Given the description of an element on the screen output the (x, y) to click on. 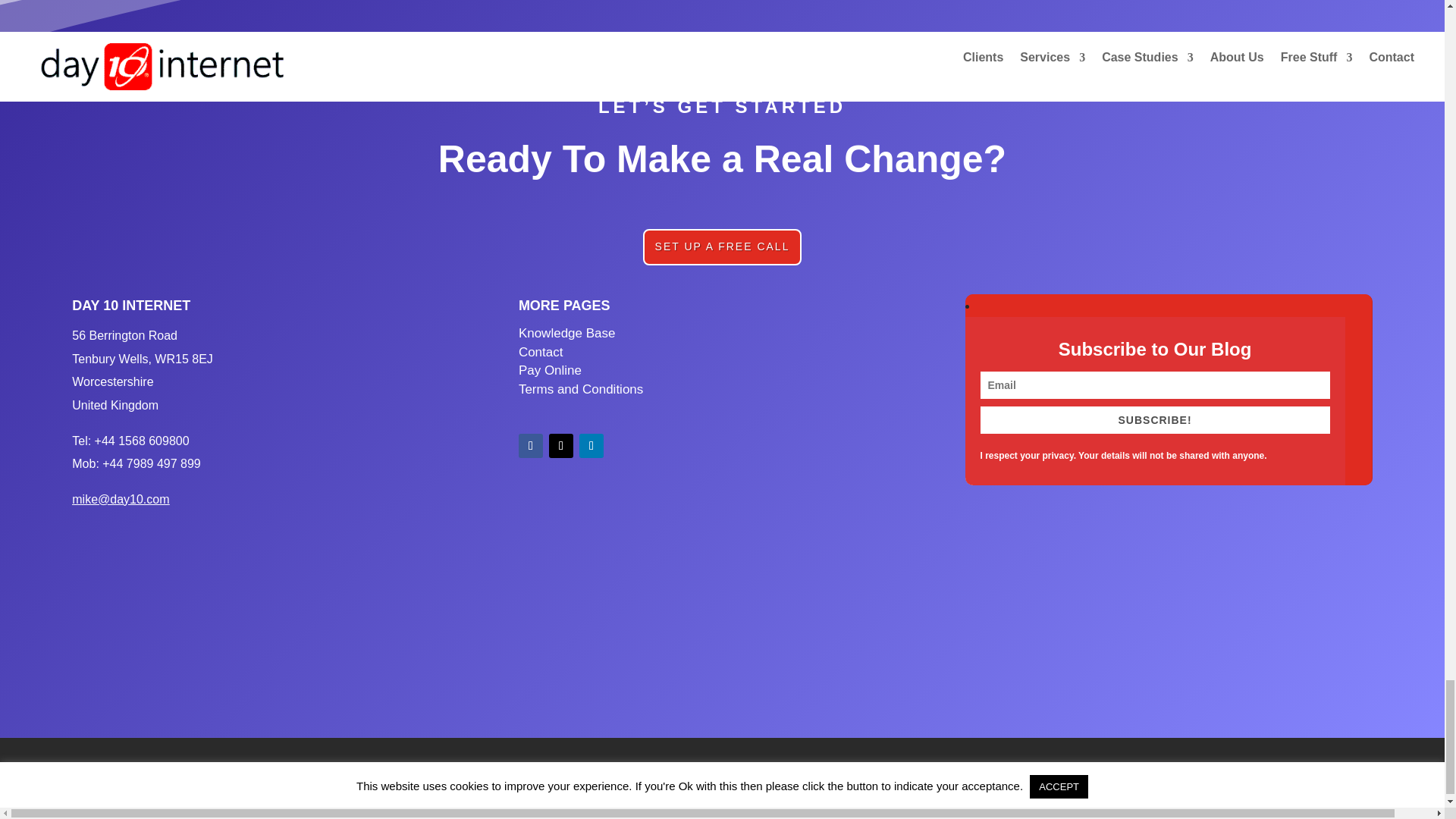
Follow on X (560, 445)
Follow on LinkedIn (591, 445)
Follow on Facebook (530, 445)
